Given the description of an element on the screen output the (x, y) to click on. 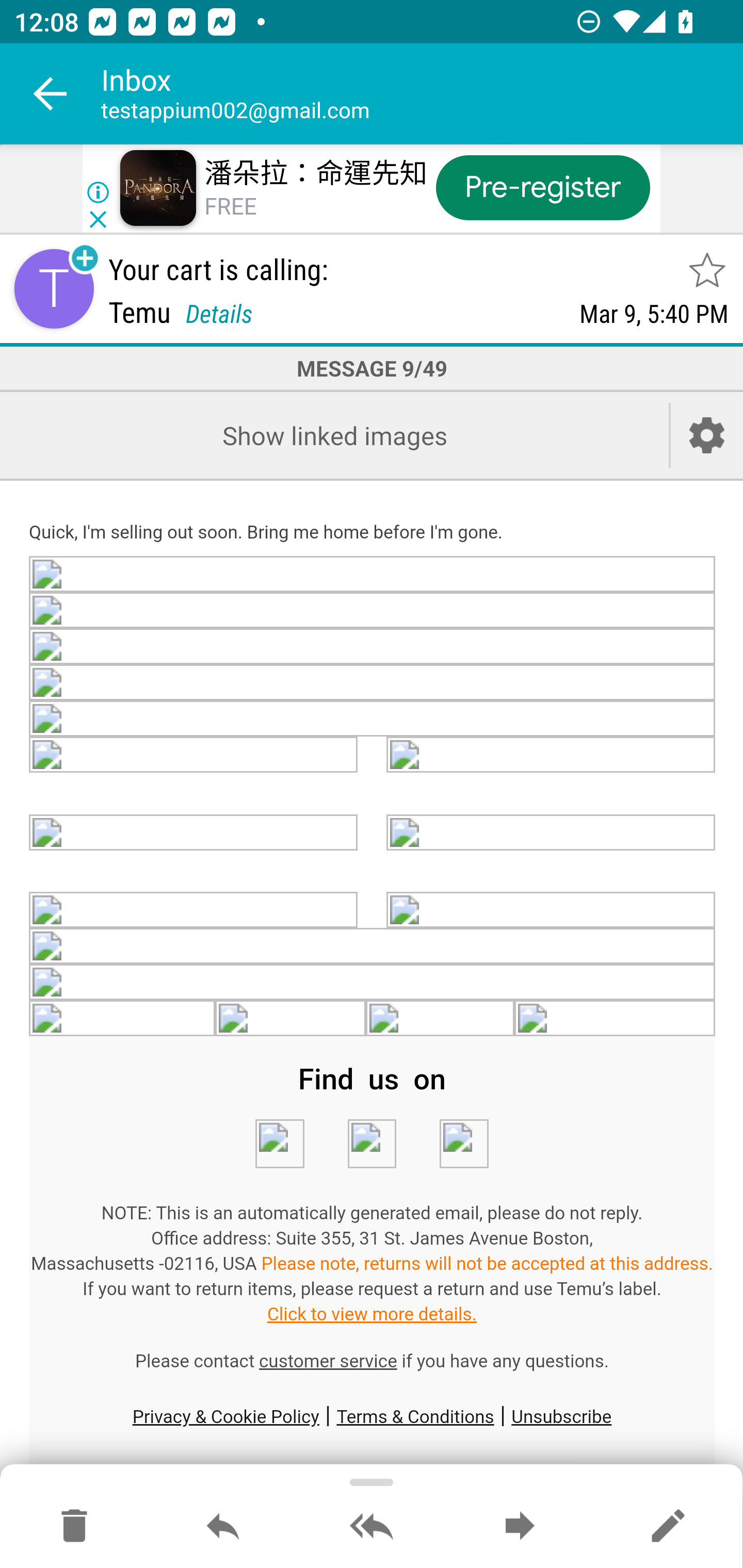
Navigate up (50, 93)
Inbox testappium002@gmail.com (422, 93)
潘朵拉：命運先知 (316, 173)
Pre-register (542, 187)
Sender contact button (53, 289)
Show linked images (334, 435)
Account setup (706, 435)
data: (372, 575)
data: (372, 611)
data: (372, 647)
data: (372, 682)
data: (372, 718)
data: (193, 754)
data: (551, 754)
data: (193, 831)
data: (551, 831)
data: (193, 910)
data: (551, 910)
data: (372, 946)
data: (372, 982)
data: (122, 1019)
data: (289, 1019)
data: (440, 1019)
data: (614, 1019)
data: (279, 1144)
data: (371, 1144)
data: (463, 1144)
Click to view more details. (372, 1313)
customer service (327, 1361)
Privacy & Cookie Policy (225, 1416)
Terms & Conditions (414, 1416)
Unsubscribe (561, 1416)
Move to Deleted (74, 1527)
Reply (222, 1527)
Reply all (371, 1527)
Forward (519, 1527)
Reply as new (667, 1527)
